Given the description of an element on the screen output the (x, y) to click on. 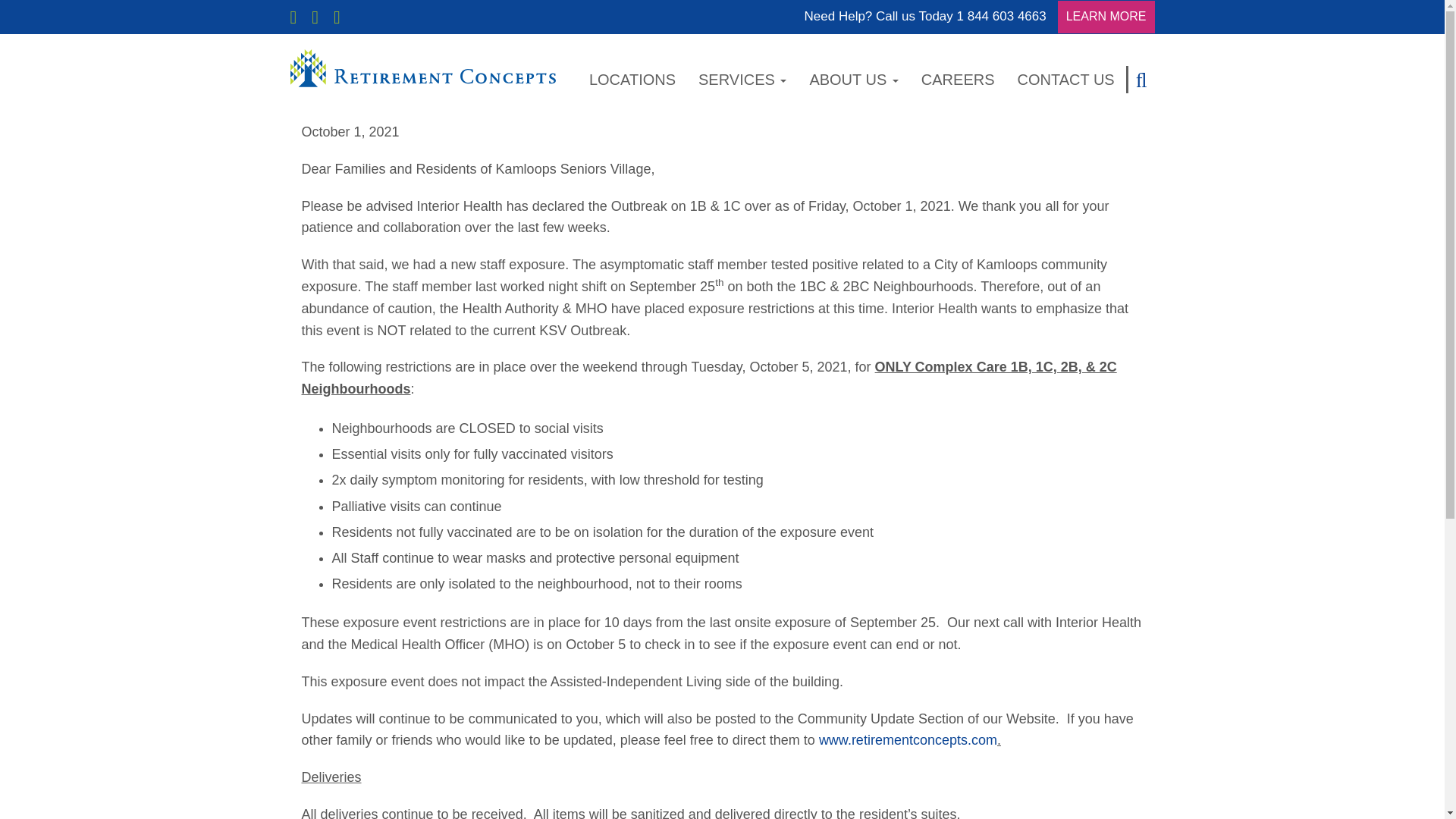
1 844 603 4663 (1001, 16)
Services (741, 79)
CAREERS (958, 79)
CONTACT US (1066, 79)
SEARCH (1139, 79)
LOCATIONS (631, 79)
About Us (853, 79)
ABOUT US (853, 79)
Contact Us (1066, 79)
Locations (631, 79)
